Given the description of an element on the screen output the (x, y) to click on. 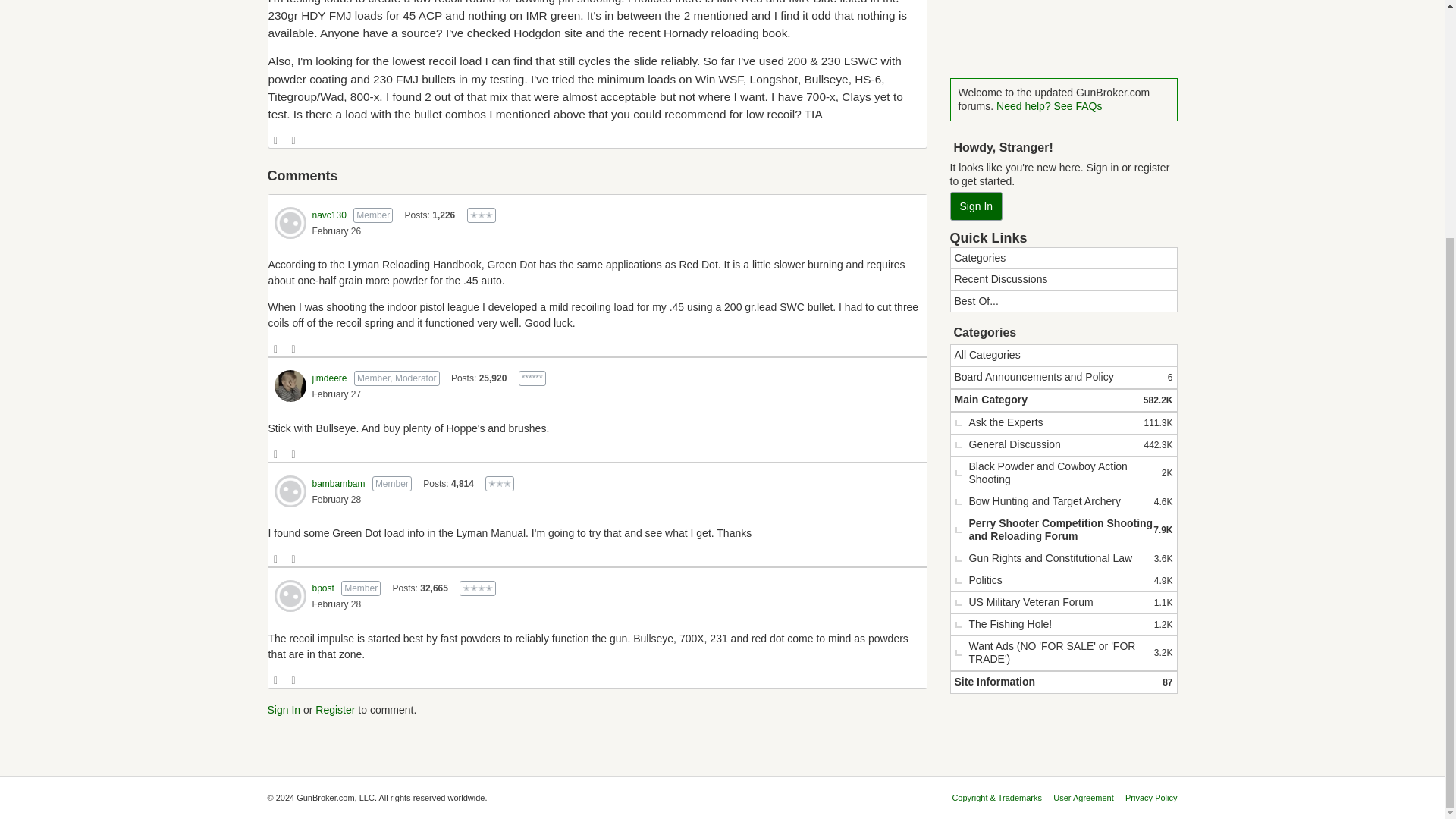
February 26 (337, 231)
Level 3 (498, 483)
February 26, 2024 11:23PM (337, 231)
Share on Twitter (294, 349)
bambambam (290, 490)
February 28, 2024 5:13PM (337, 603)
jimdeere (290, 386)
Moderator (532, 378)
February 28, 2024 4:54PM (337, 499)
Level 4 (478, 588)
